Given the description of an element on the screen output the (x, y) to click on. 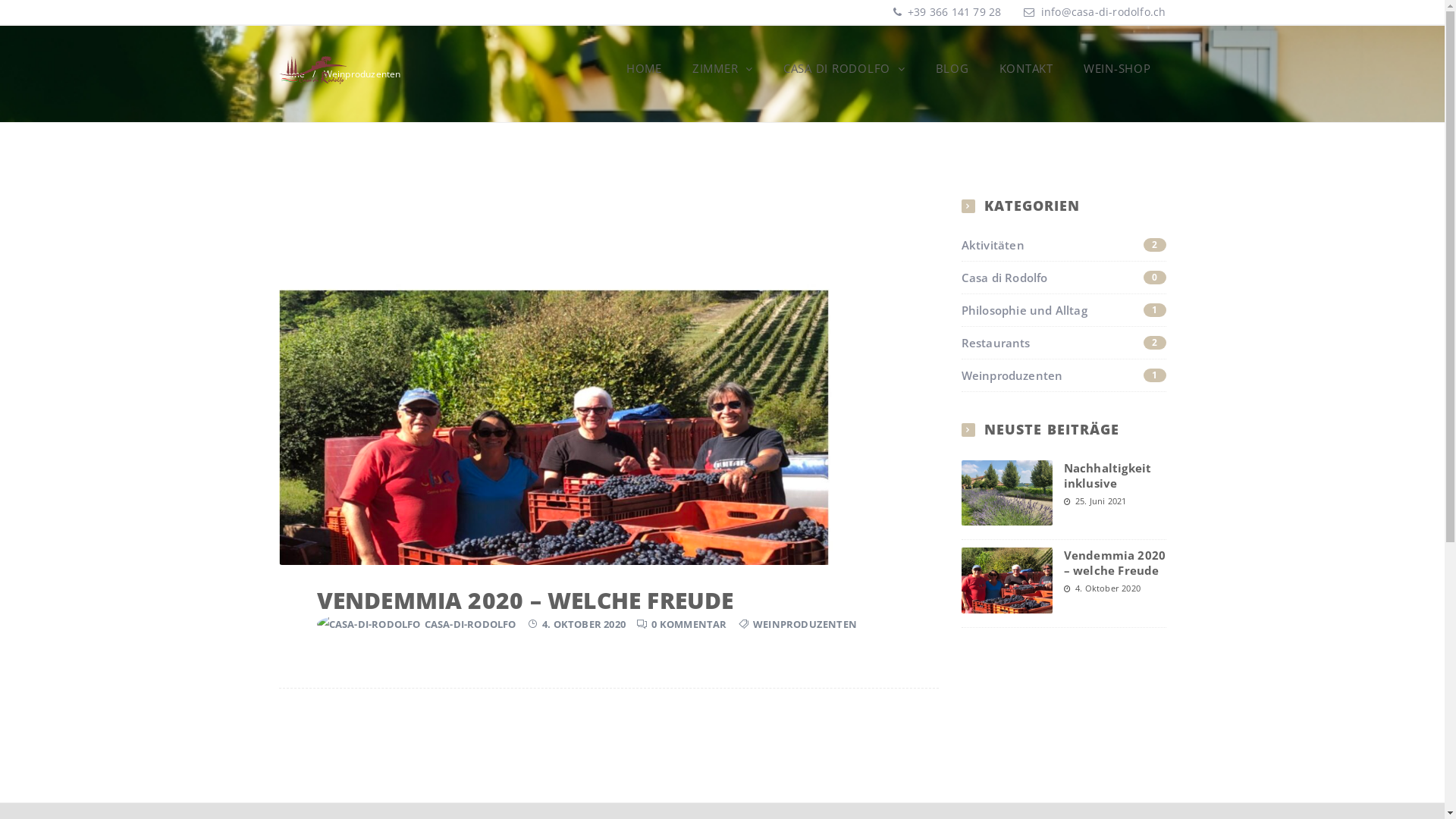
WEIN-SHOP Element type: text (1117, 67)
WEINPRODUZENTEN Element type: text (804, 623)
Casa di Rodolfo
0 Element type: text (1063, 277)
0 KOMMENTAR Element type: text (688, 623)
CASA-DI-RODOLFO Element type: text (470, 623)
HOME Element type: text (644, 67)
ZIMMER Element type: text (722, 67)
Restaurants
2 Element type: text (1063, 342)
Weinproduzenten
1 Element type: text (1063, 374)
CASA DI RODOLFO Element type: text (844, 67)
Home Element type: text (292, 73)
Philosophie und Alltag
1 Element type: text (1063, 309)
info@casa-di-rodolfo.ch Element type: text (1103, 11)
Nachhaltigkeit inklusive Element type: text (1107, 475)
BLOG Element type: text (952, 67)
+39 366 141 79 28 Element type: text (952, 11)
KONTAKT Element type: text (1026, 67)
